Given the description of an element on the screen output the (x, y) to click on. 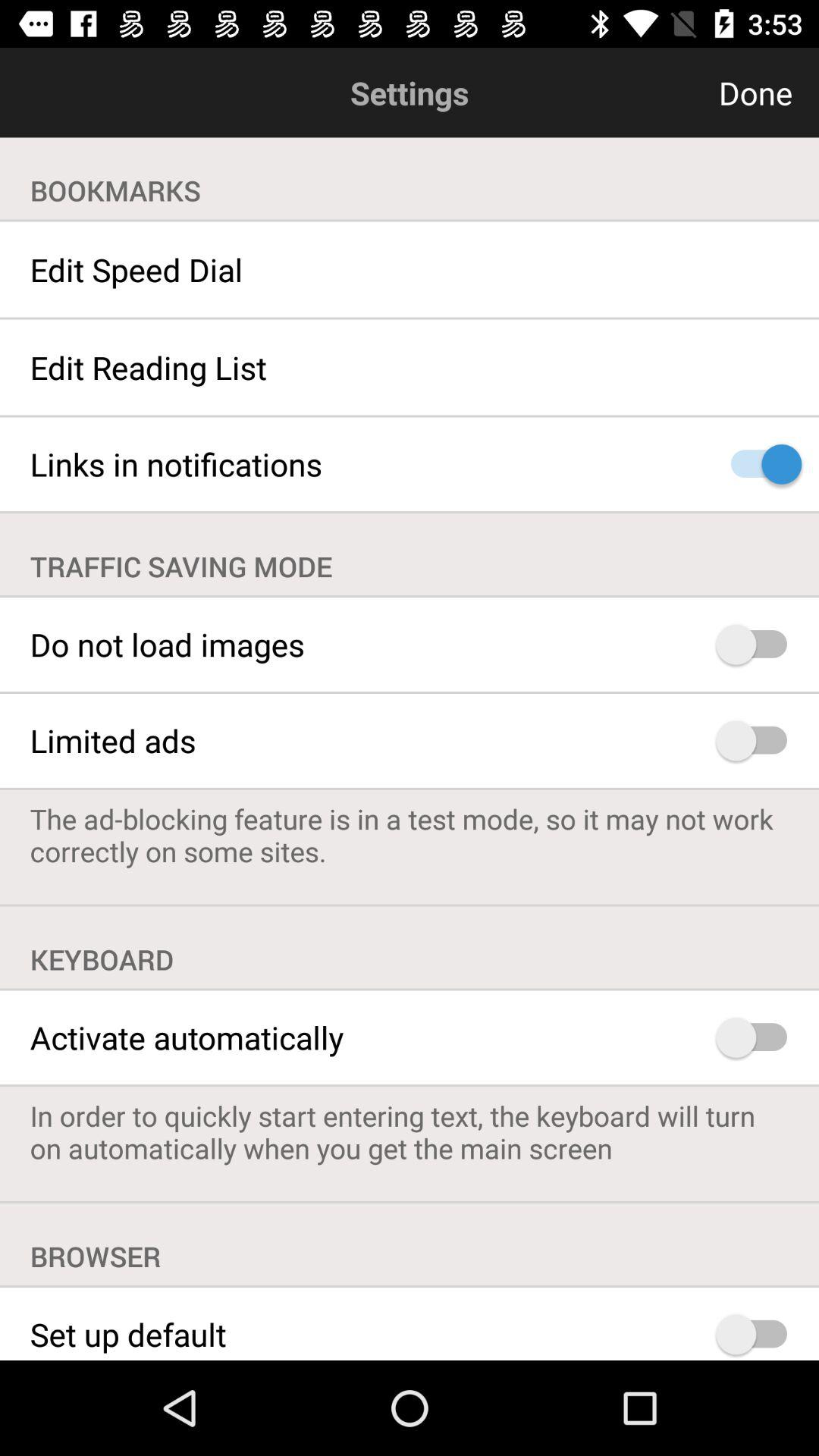
click item to the right of settings (682, 92)
